Given the description of an element on the screen output the (x, y) to click on. 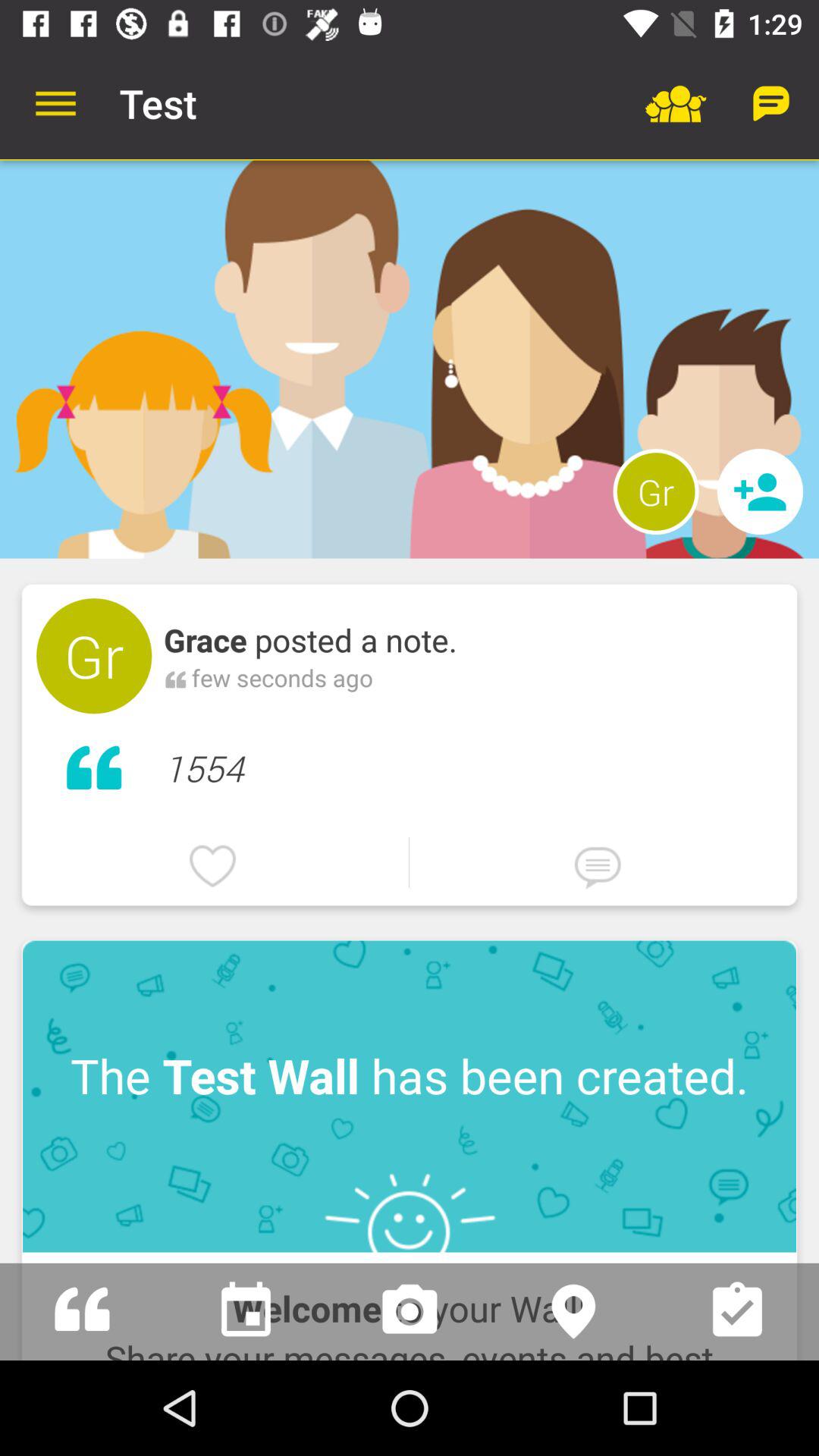
tap the item next to test (55, 103)
